Given the description of an element on the screen output the (x, y) to click on. 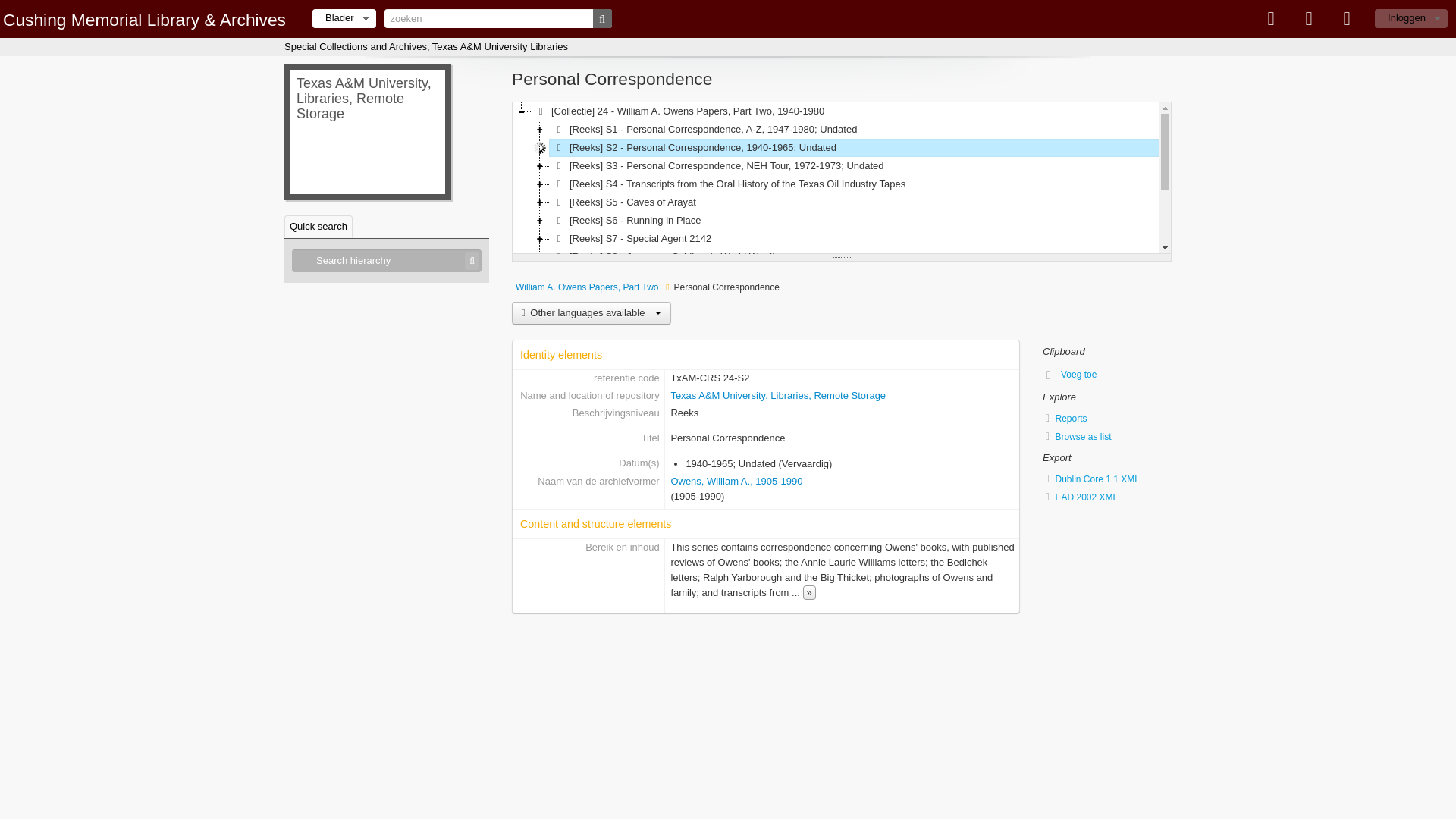
Inloggen (1410, 18)
home (143, 19)
Blader (344, 18)
Clipboard (1271, 18)
Quick links (1346, 18)
Quick search (317, 226)
Taal (1308, 18)
